Given the description of an element on the screen output the (x, y) to click on. 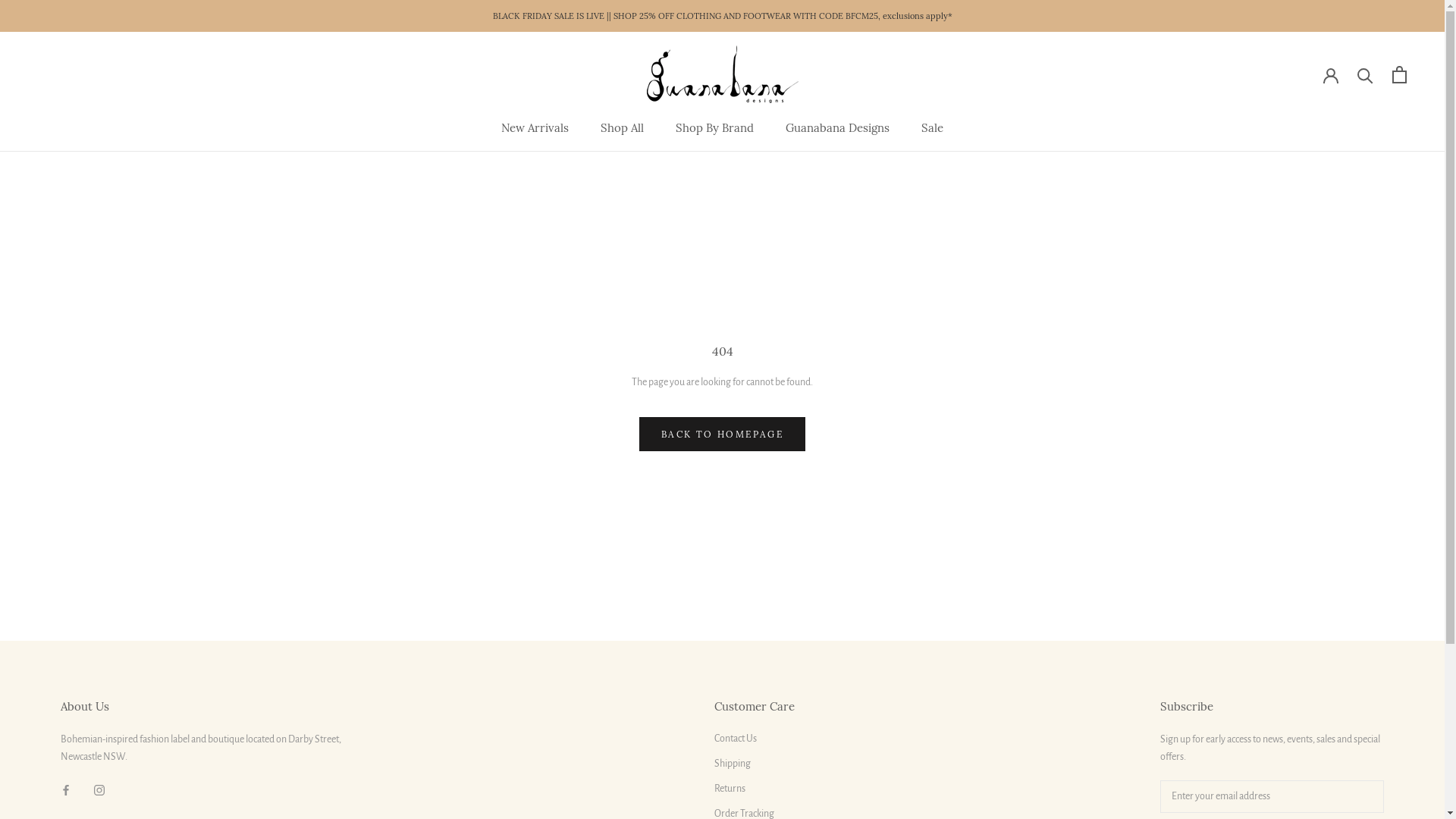
New Arrivals
New Arrivals Element type: text (534, 127)
Guanabana Designs
Guanabana Designs Element type: text (837, 127)
Shipping Element type: text (754, 763)
Contact Us Element type: text (754, 738)
Sale
Sale Element type: text (932, 127)
Shop All
Shop All Element type: text (621, 127)
Shop By Brand
Shop By Brand Element type: text (714, 127)
BACK TO HOMEPAGE Element type: text (722, 434)
Returns Element type: text (754, 789)
